Given the description of an element on the screen output the (x, y) to click on. 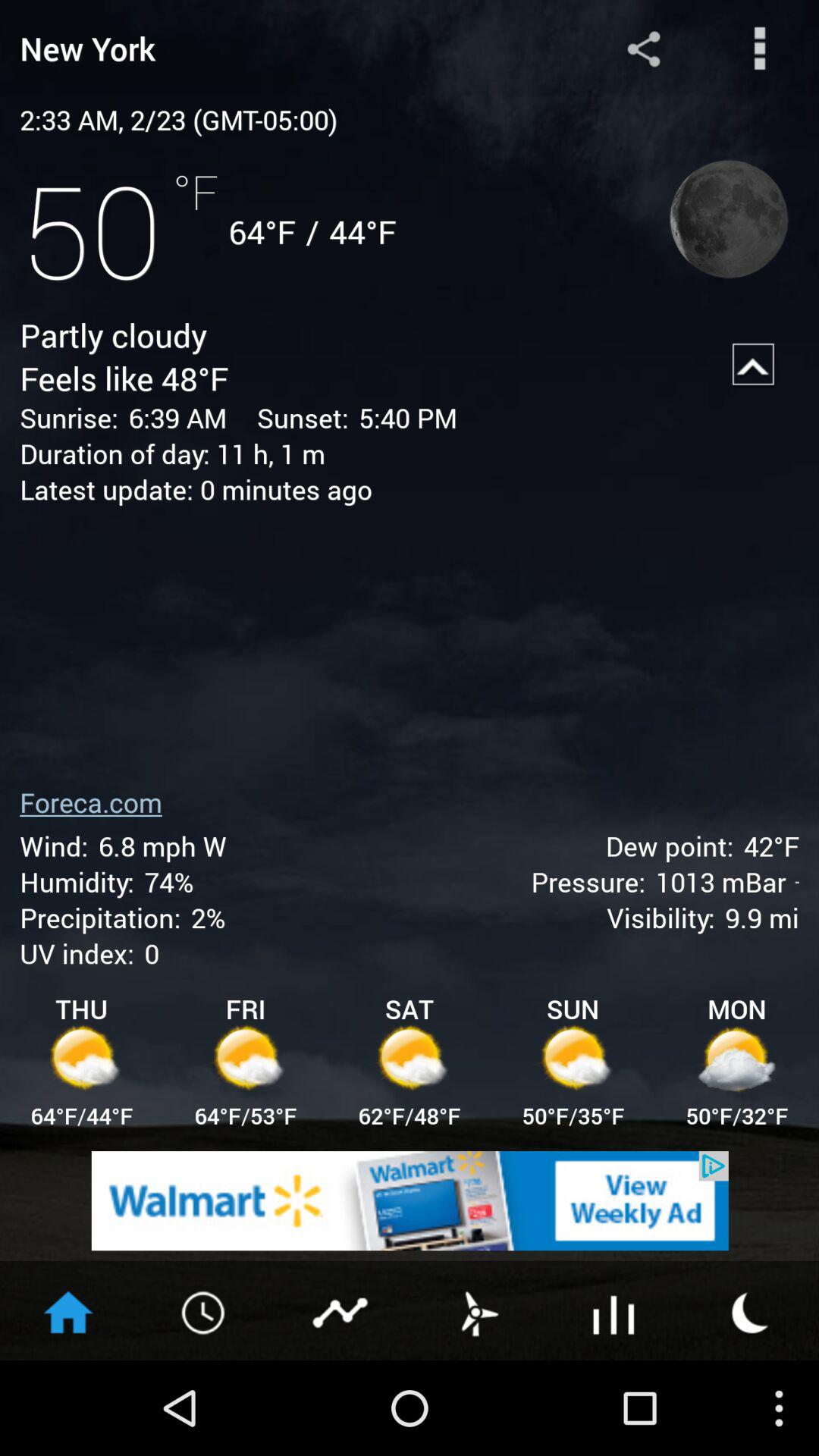
this button share the data on social media (643, 48)
